Given the description of an element on the screen output the (x, y) to click on. 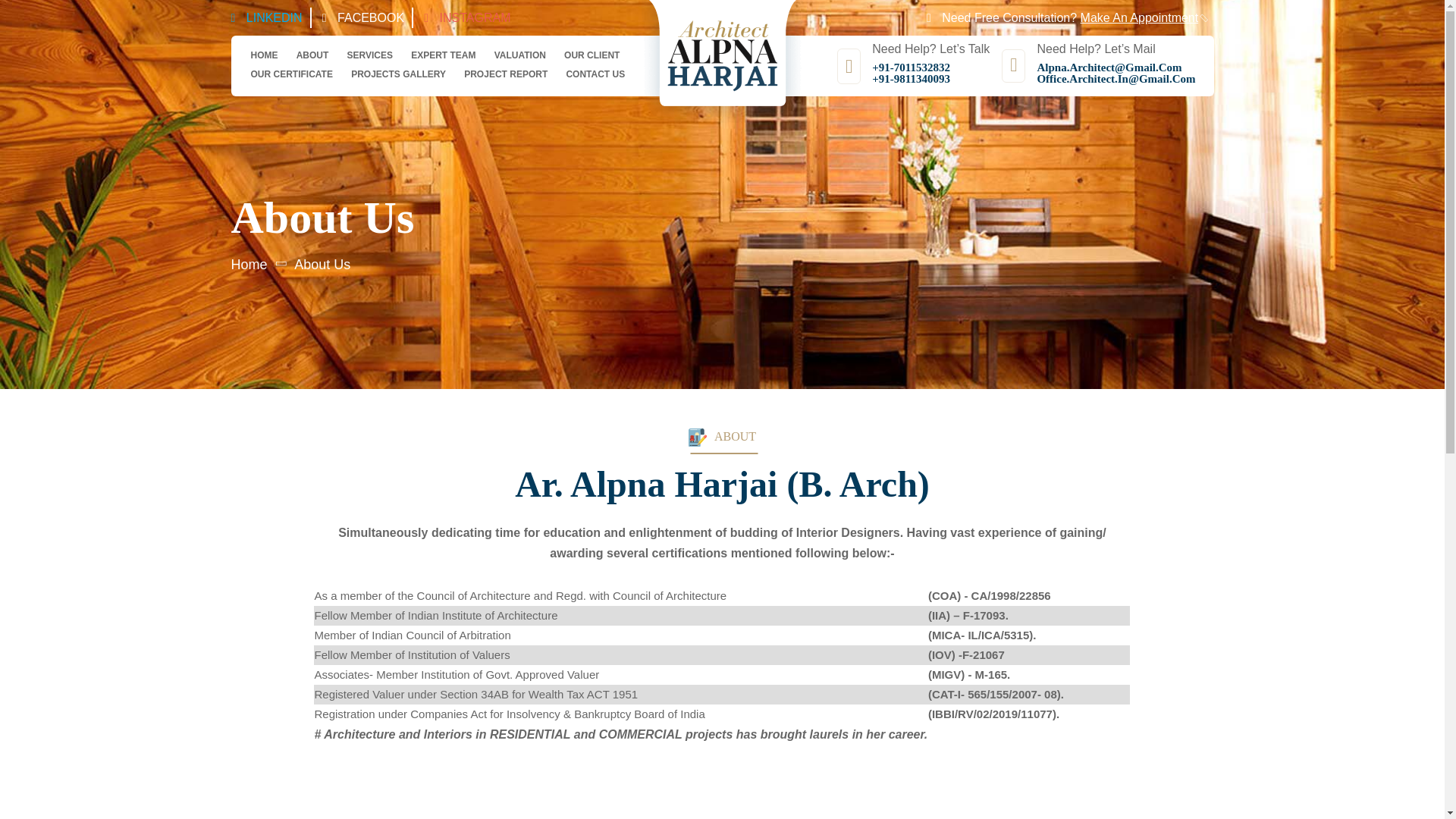
LINKEDIN (274, 17)
Home (248, 264)
HOME (264, 54)
PROJECT REPORT (505, 74)
Make An Appointment (1139, 17)
SERVICES (369, 54)
CONTACT US (594, 74)
OUR CERTIFICATE (291, 74)
EXPERT TEAM (443, 54)
About Us (322, 264)
